Given the description of an element on the screen output the (x, y) to click on. 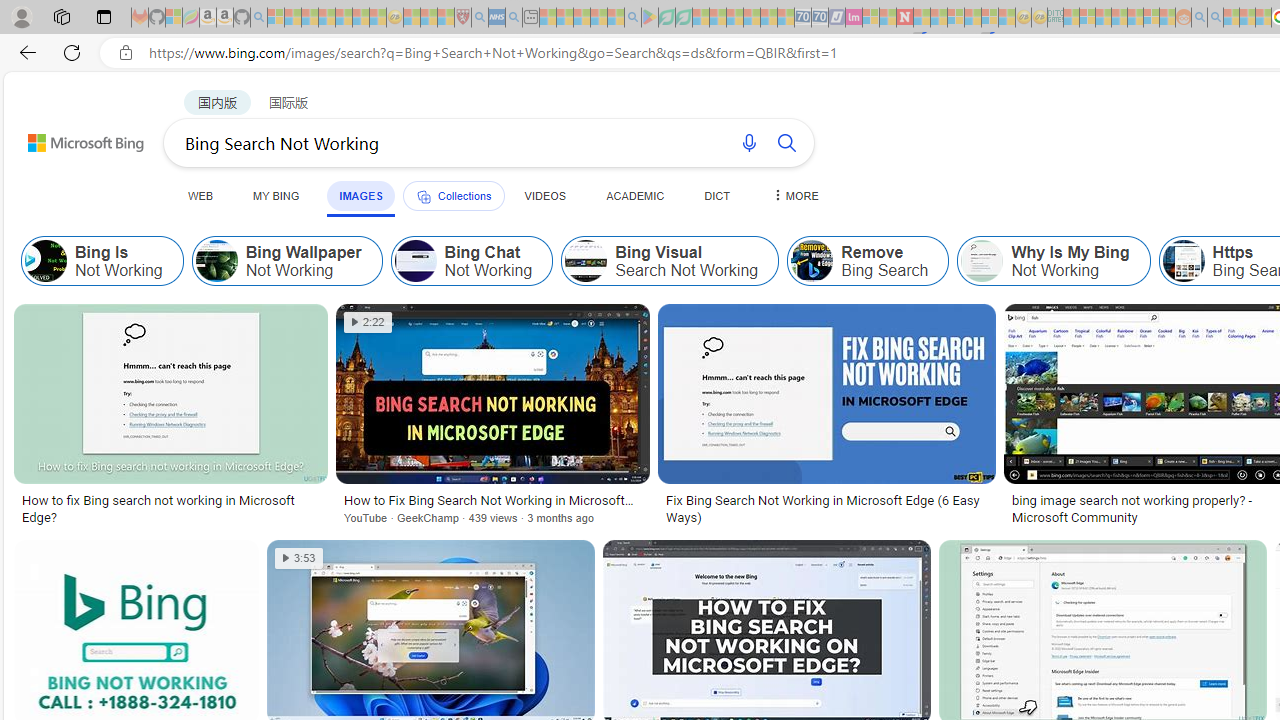
Bing Wallpaper Not Working (286, 260)
Bing Visual Search Not Working (670, 260)
How to fix Bing search not working in Microsoft Edge?Save (174, 417)
DICT (717, 195)
Search using voice (748, 142)
Why Is My Bing Not Working (1053, 260)
